Given the description of an element on the screen output the (x, y) to click on. 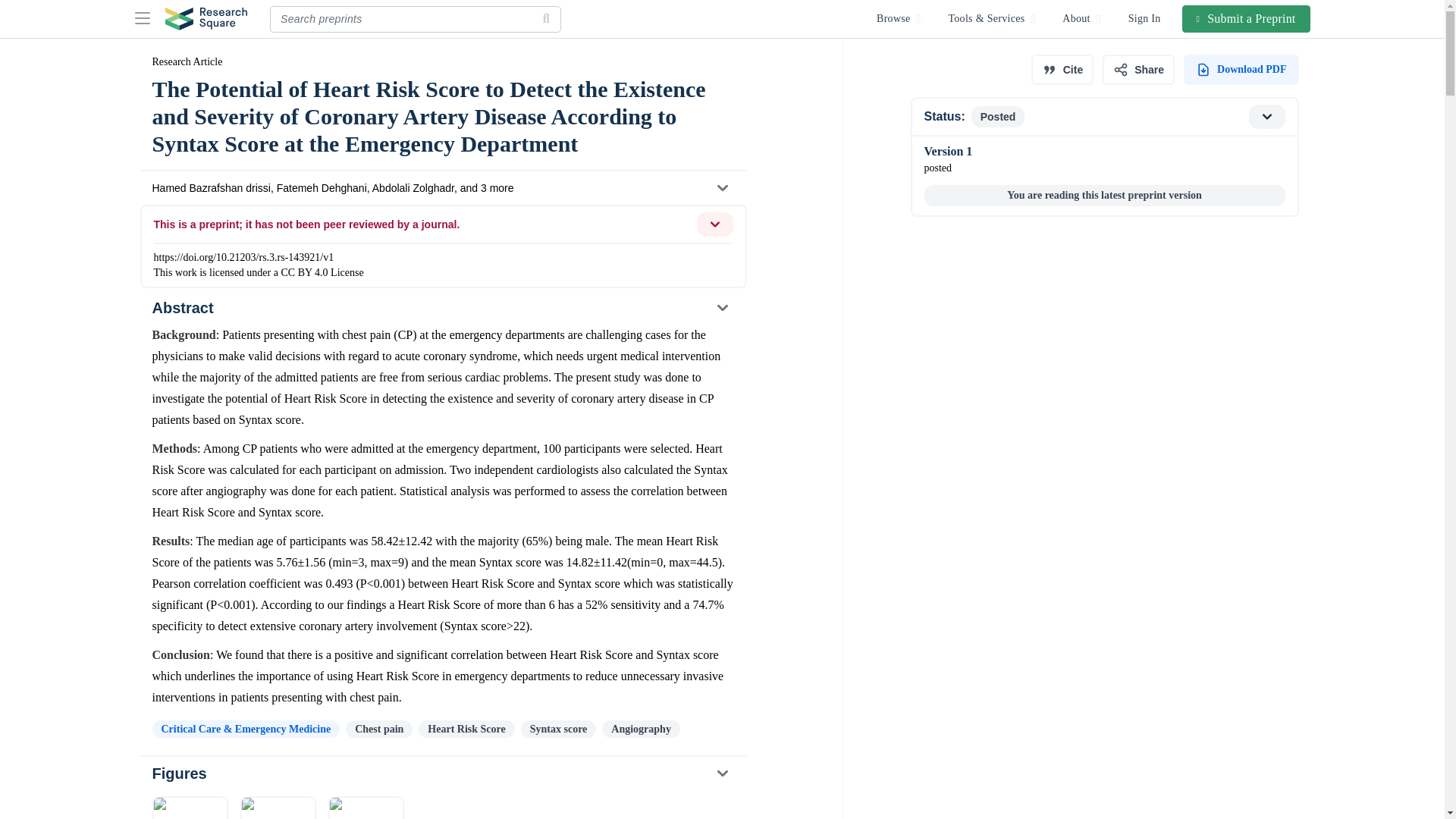
Figure 3 (365, 807)
Figure 2 (277, 807)
Abstract (442, 307)
Figures (442, 773)
Figure 1 (189, 807)
Sign In (1144, 18)
Submit a Preprint (1246, 18)
